Given the description of an element on the screen output the (x, y) to click on. 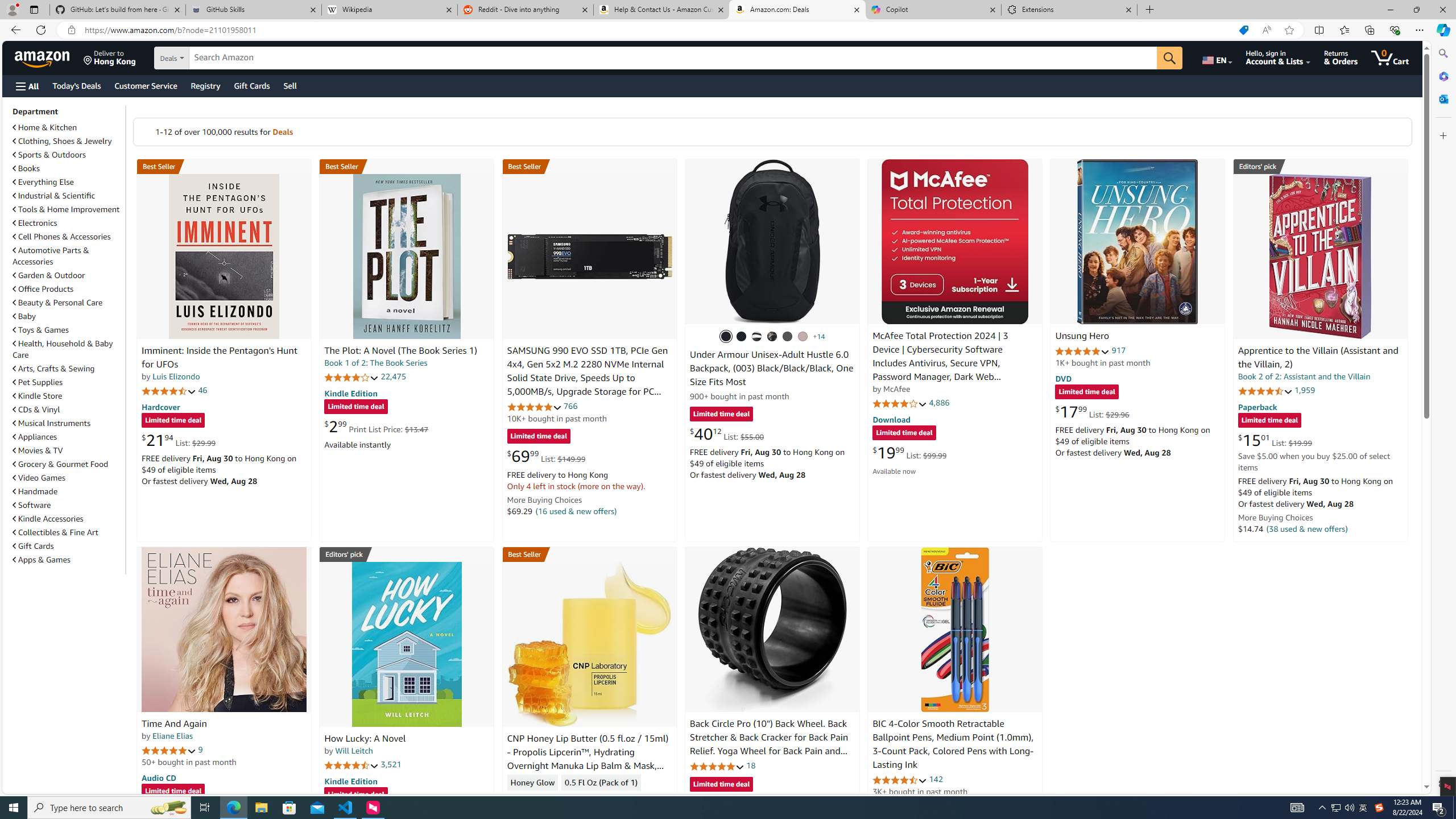
Pet Supplies (67, 382)
Baby (24, 316)
Registry (205, 85)
Pet Supplies (37, 381)
0 items in cart (1389, 57)
Today's Deals (76, 85)
Amazon (43, 57)
4.6 out of 5 stars (899, 779)
Appliances (67, 436)
4.2 out of 5 stars (352, 377)
Beauty & Personal Care (67, 301)
Arts, Crafts & Sewing (67, 368)
